Given the description of an element on the screen output the (x, y) to click on. 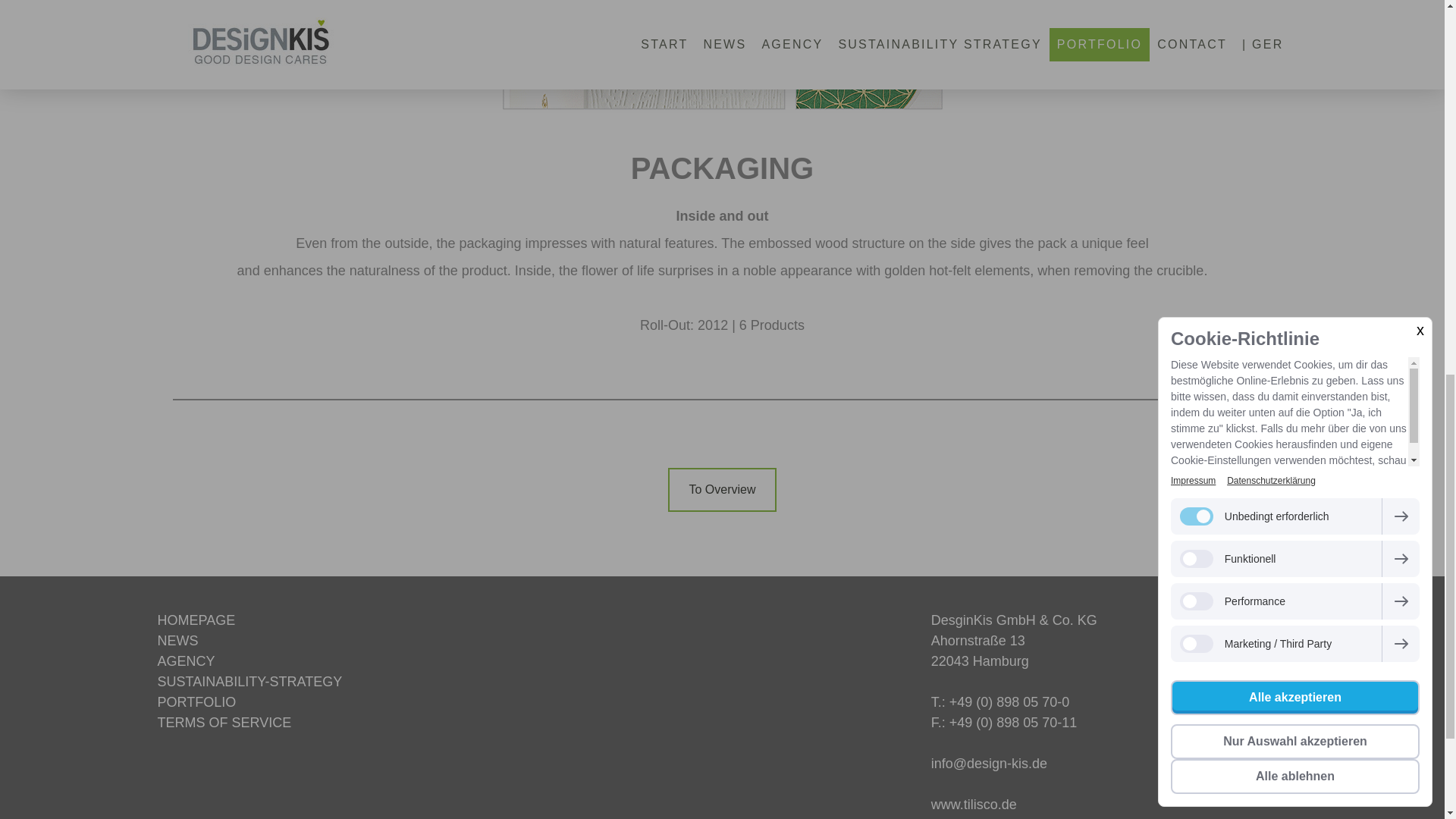
START (196, 620)
To Overview (722, 489)
News (177, 640)
Sustainability strategy (249, 681)
Terms of Service (224, 722)
Portfolio (196, 702)
HOMEPAGE (196, 620)
Agency (186, 661)
